Given the description of an element on the screen output the (x, y) to click on. 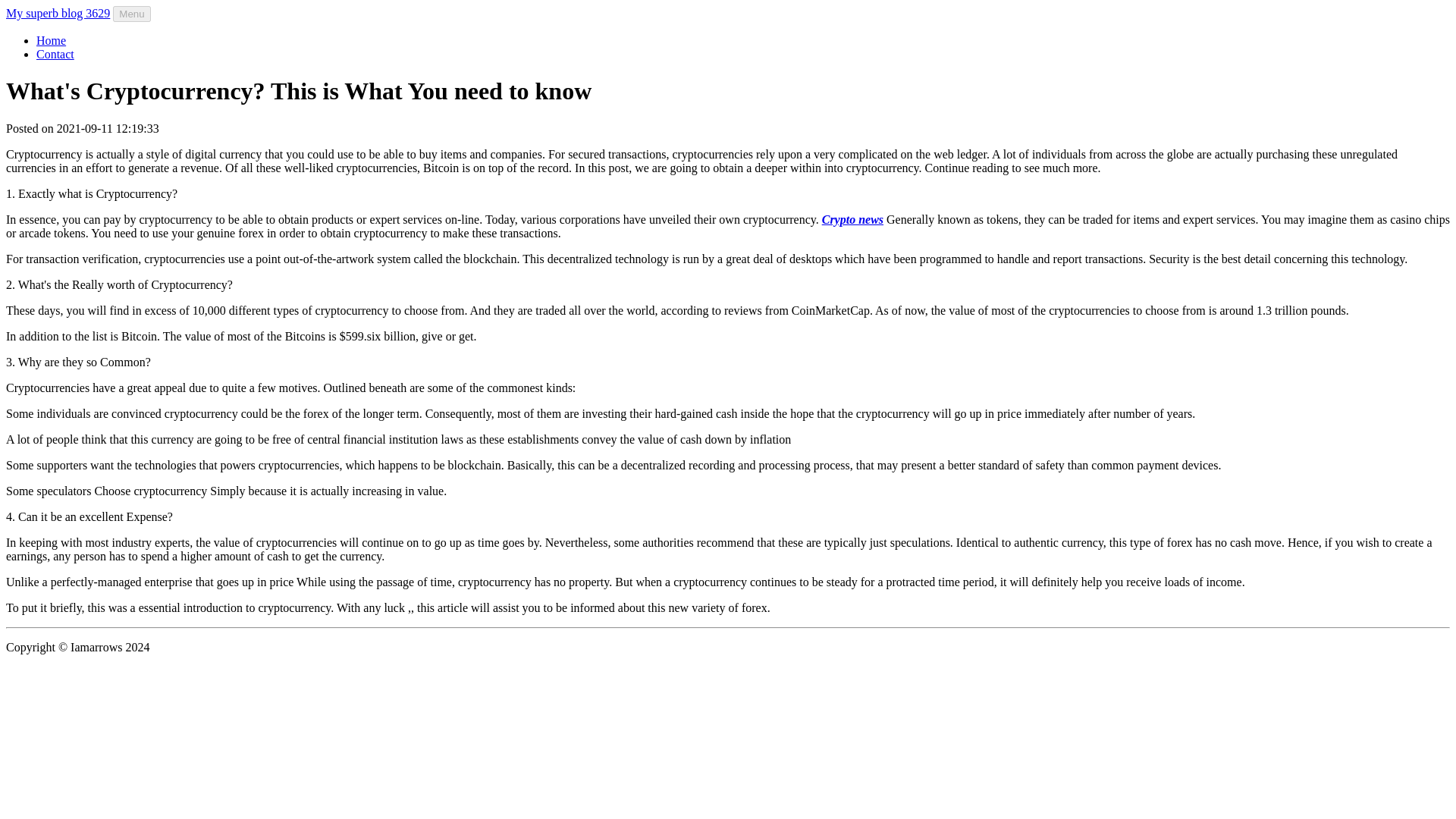
Crypto news (852, 219)
Menu (131, 13)
Home (50, 40)
Contact (55, 53)
My superb blog 3629 (57, 12)
